Given the description of an element on the screen output the (x, y) to click on. 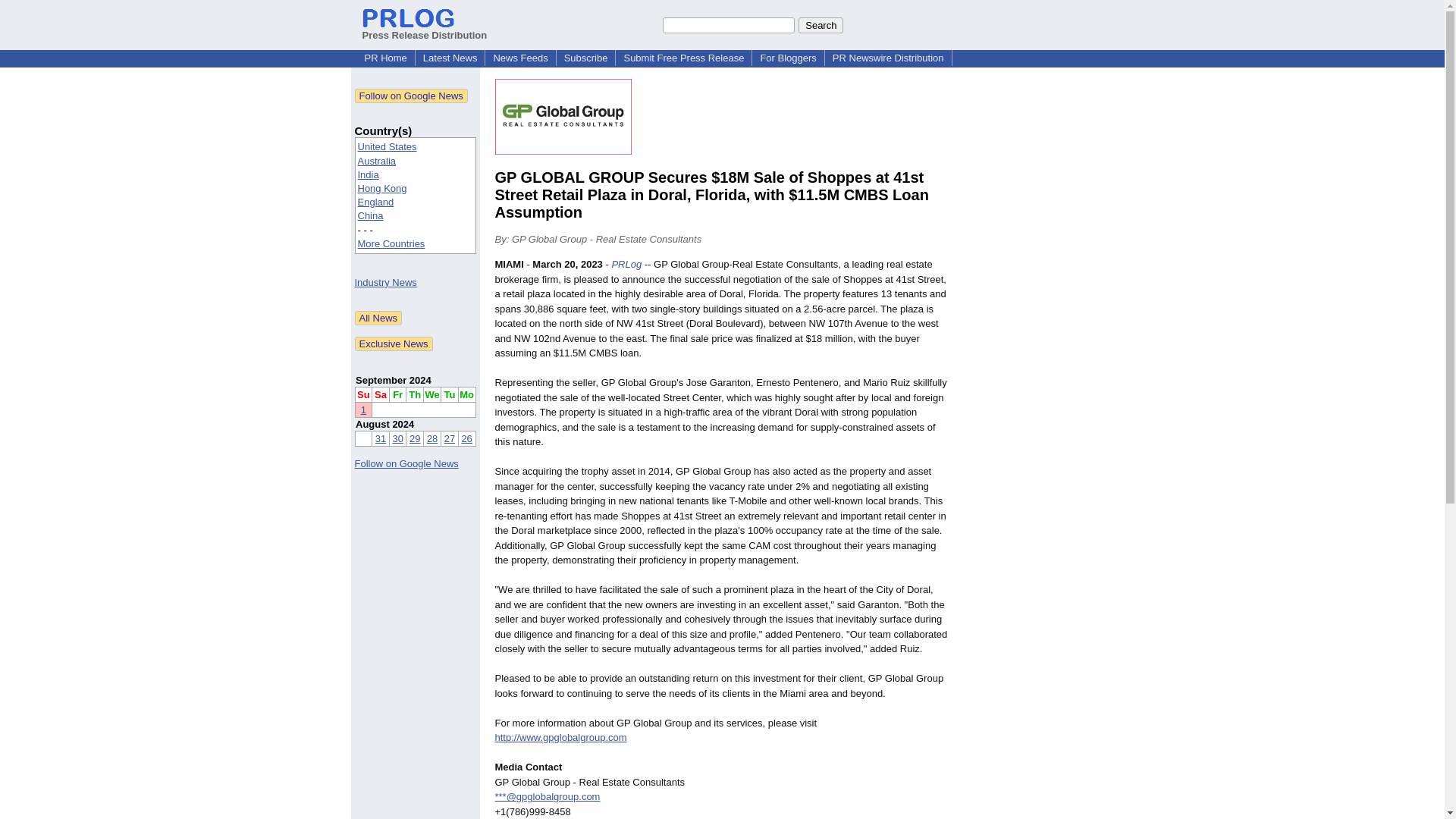
United States (387, 146)
30 (397, 438)
All News (379, 318)
August 2024 (384, 423)
Industry News (385, 282)
Press Release Distribution (424, 29)
Subscribe (585, 57)
All News (379, 318)
Follow on Google News (411, 95)
For Bloggers (788, 57)
